Given the description of an element on the screen output the (x, y) to click on. 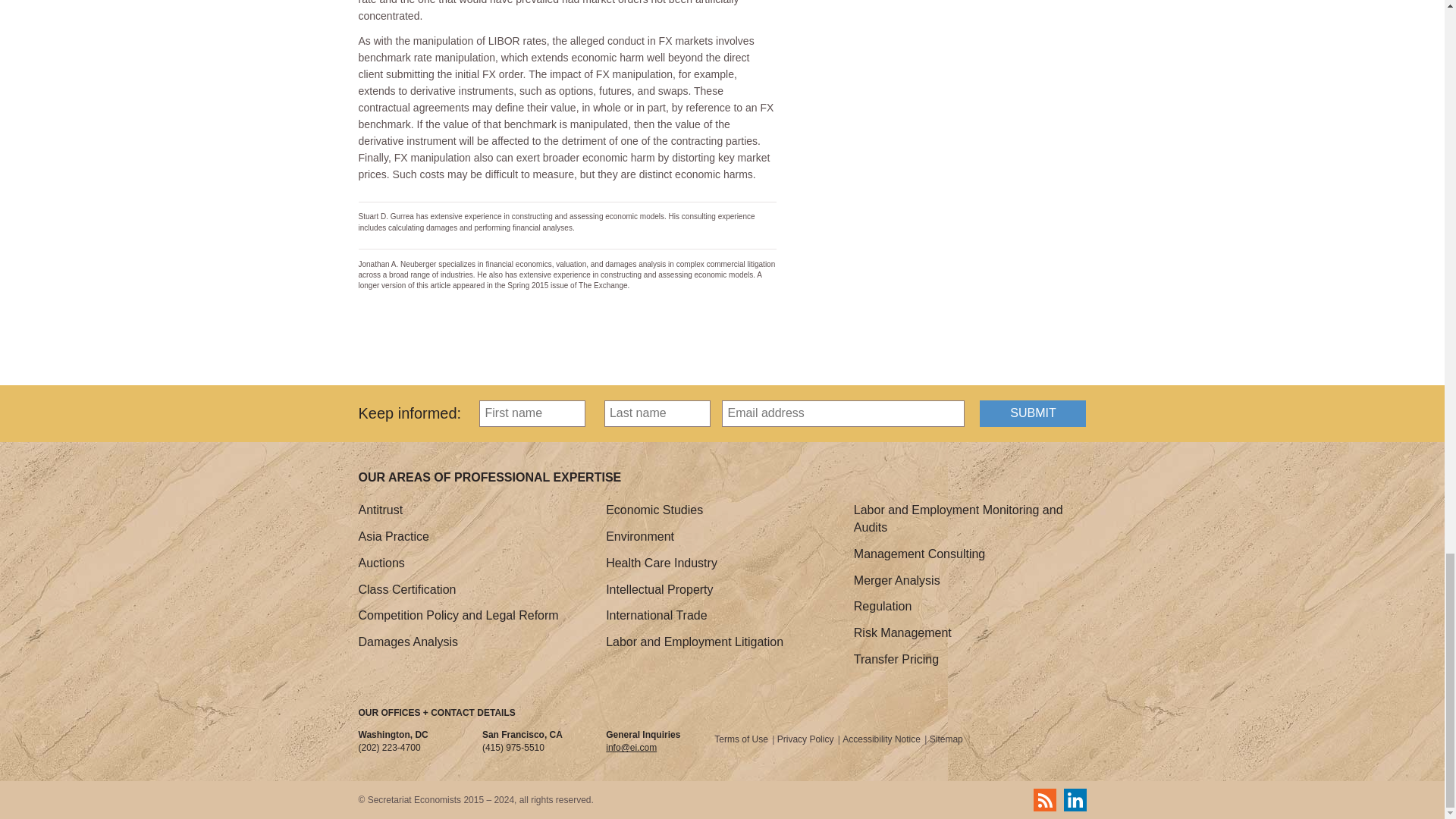
Submit (1032, 413)
